Given the description of an element on the screen output the (x, y) to click on. 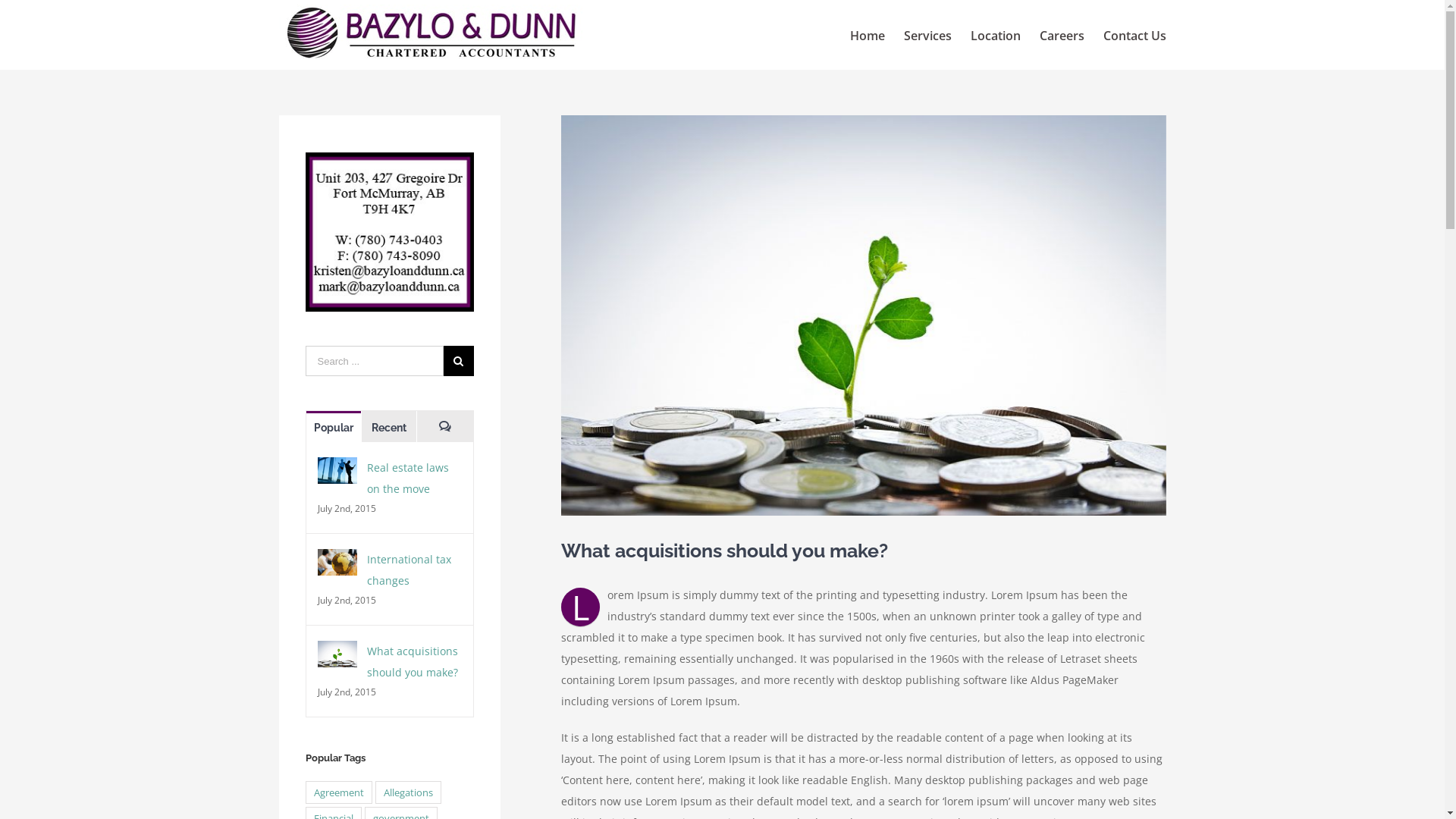
Popular Element type: text (333, 426)
Services Element type: text (927, 34)
Real estate laws on the move Element type: text (407, 477)
Careers Element type: text (1060, 34)
Home Element type: text (866, 34)
View Larger Image Element type: text (863, 315)
International tax changes Element type: text (409, 569)
What acquisitions should you make? Element type: text (412, 661)
Allegations Element type: text (408, 792)
Location Element type: text (995, 34)
Comments Element type: text (444, 426)
Agreement Element type: text (338, 792)
Recent Element type: text (388, 426)
Contact Us Element type: text (1133, 34)
